Given the description of an element on the screen output the (x, y) to click on. 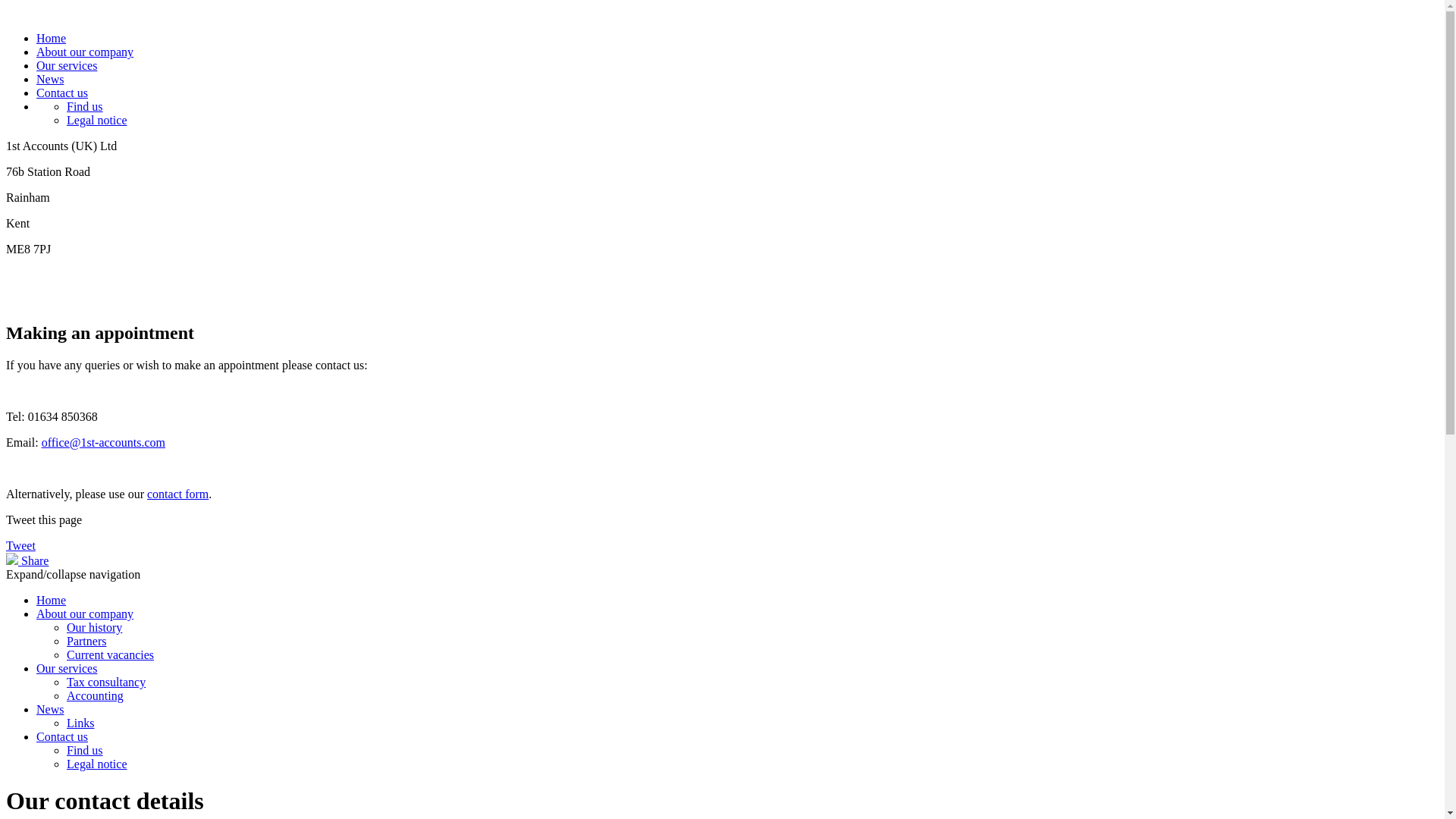
office@1st-accounts.com Element type: text (103, 442)
contact form Element type: text (177, 493)
Partners Element type: text (86, 640)
About our company Element type: text (84, 51)
Tax consultancy Element type: text (105, 681)
Legal notice Element type: text (96, 763)
Tweet Element type: text (20, 545)
Expand/collapse navigation Element type: text (73, 573)
Contact us Element type: text (61, 92)
Share Element type: text (27, 560)
News Element type: text (49, 708)
Legal notice Element type: text (96, 119)
Home Element type: text (50, 37)
Find us Element type: text (84, 106)
Our services Element type: text (66, 65)
News Element type: text (49, 78)
Our services Element type: text (66, 668)
Find us Element type: text (84, 749)
Current vacancies Element type: text (109, 654)
Home Element type: text (50, 599)
About our company Element type: text (84, 613)
Our history Element type: text (94, 627)
Links Element type: text (80, 722)
Accounting Element type: text (94, 695)
Contact us Element type: text (61, 736)
